Given the description of an element on the screen output the (x, y) to click on. 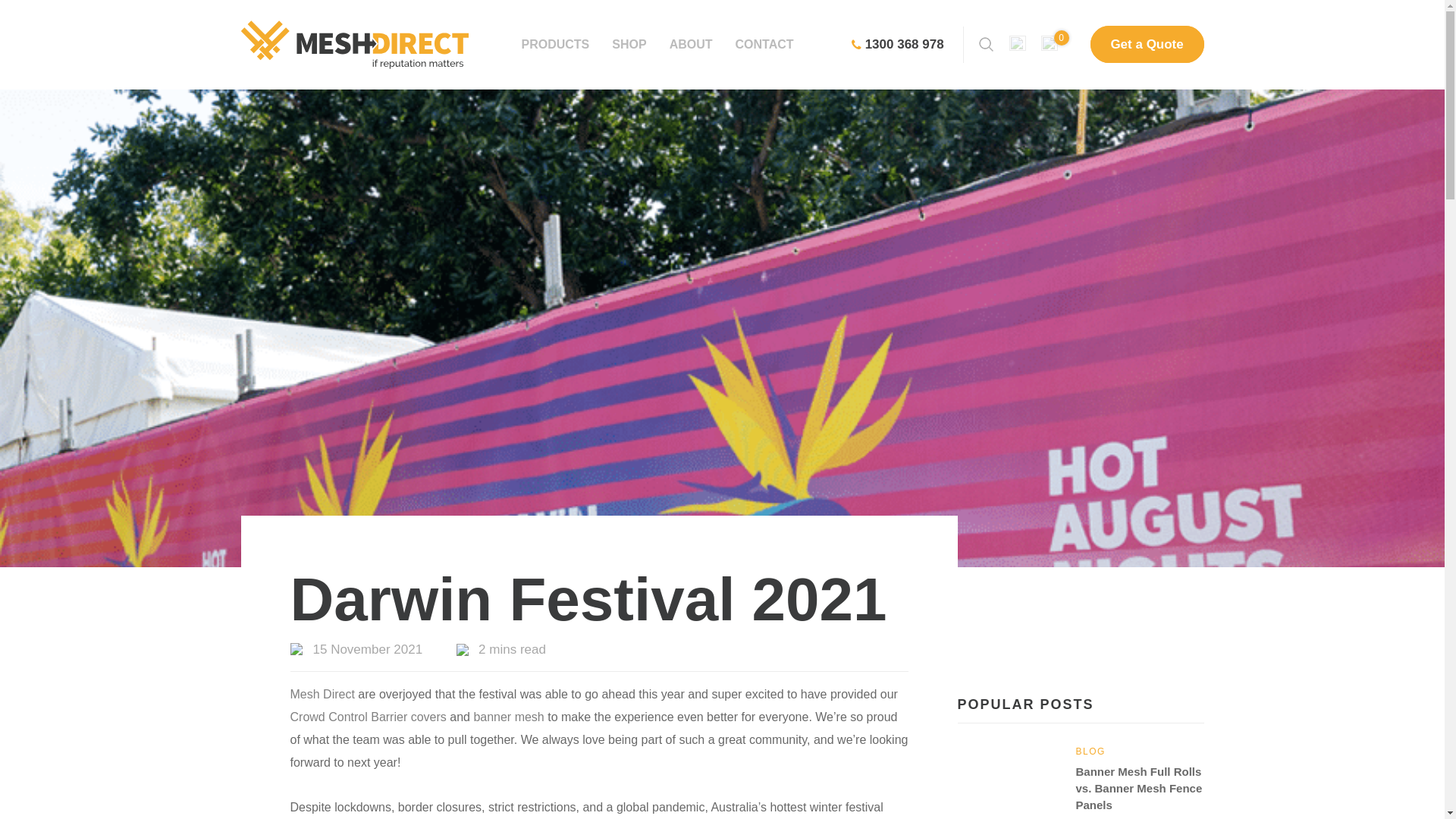
PRODUCTS (555, 43)
